Given the description of an element on the screen output the (x, y) to click on. 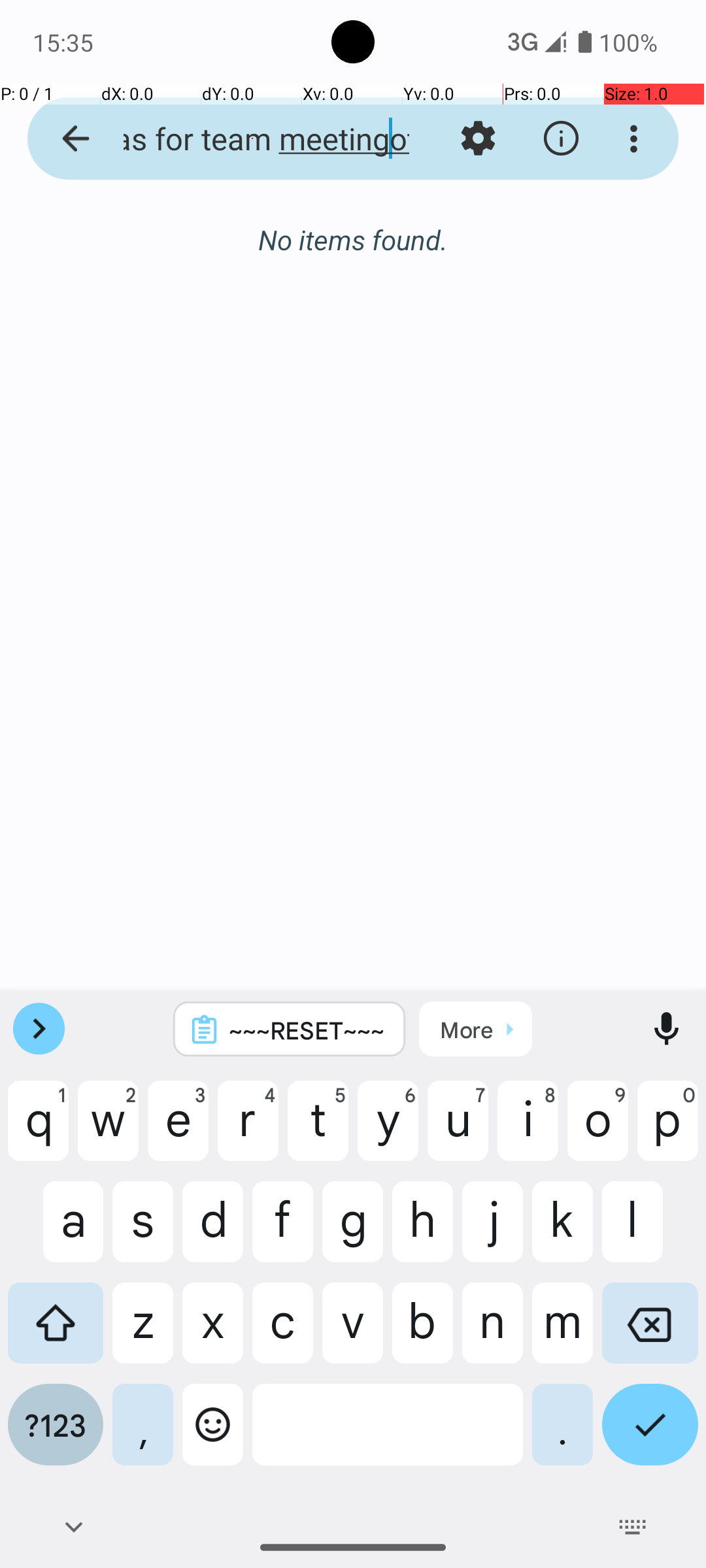
meeting nproject ideas for team meetingotes Element type: android.widget.EditText (252, 138)
